Given the description of an element on the screen output the (x, y) to click on. 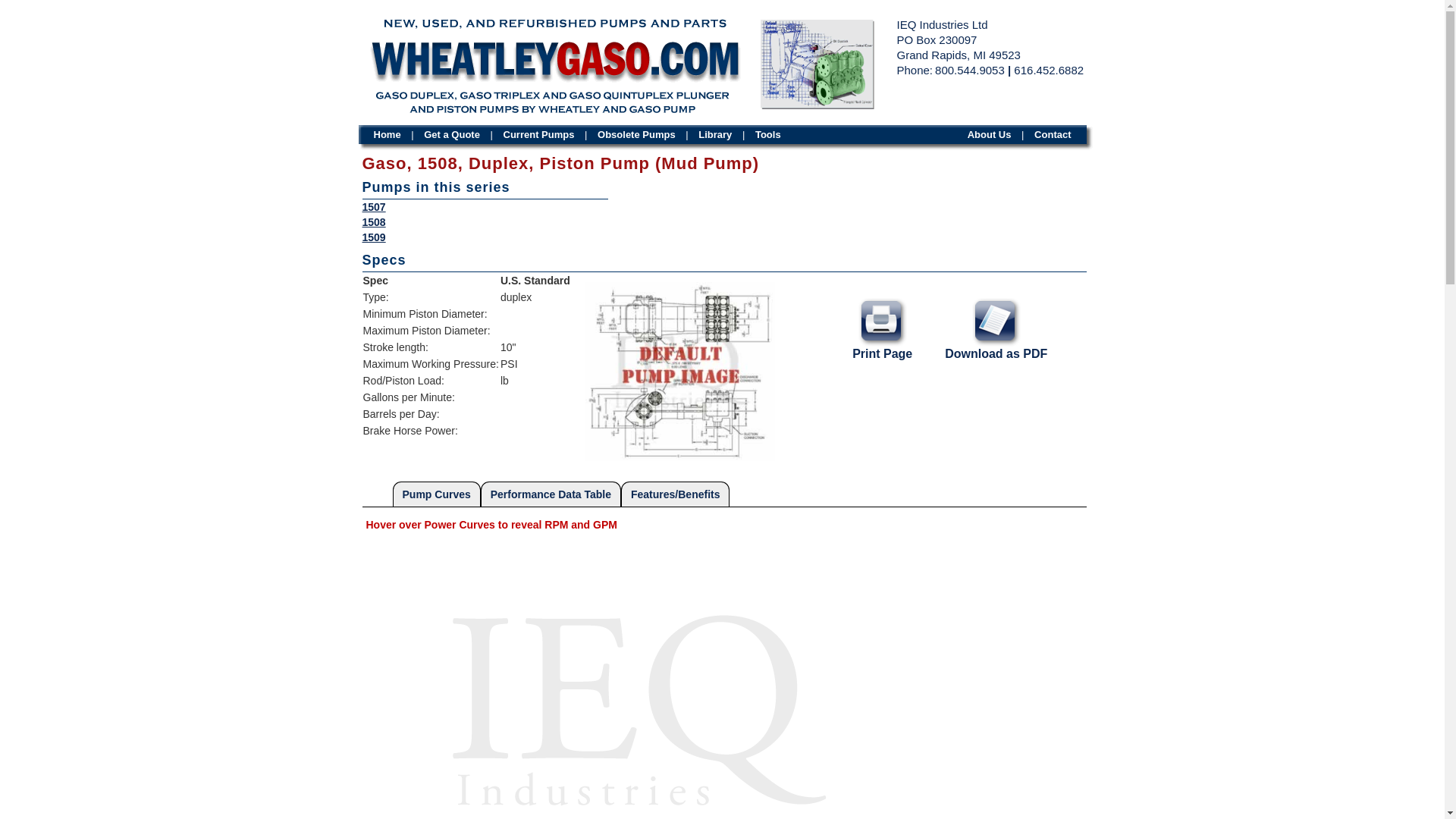
Current Pumps (539, 134)
1509 (373, 236)
Pump Curves (436, 493)
1508 (373, 222)
Home (386, 134)
WHEATLEYGASO.COM (554, 61)
Performance Data Table (550, 493)
Obsolete Pumps (635, 134)
1507 (373, 206)
Get a Quote (451, 134)
Library (714, 134)
